Given the description of an element on the screen output the (x, y) to click on. 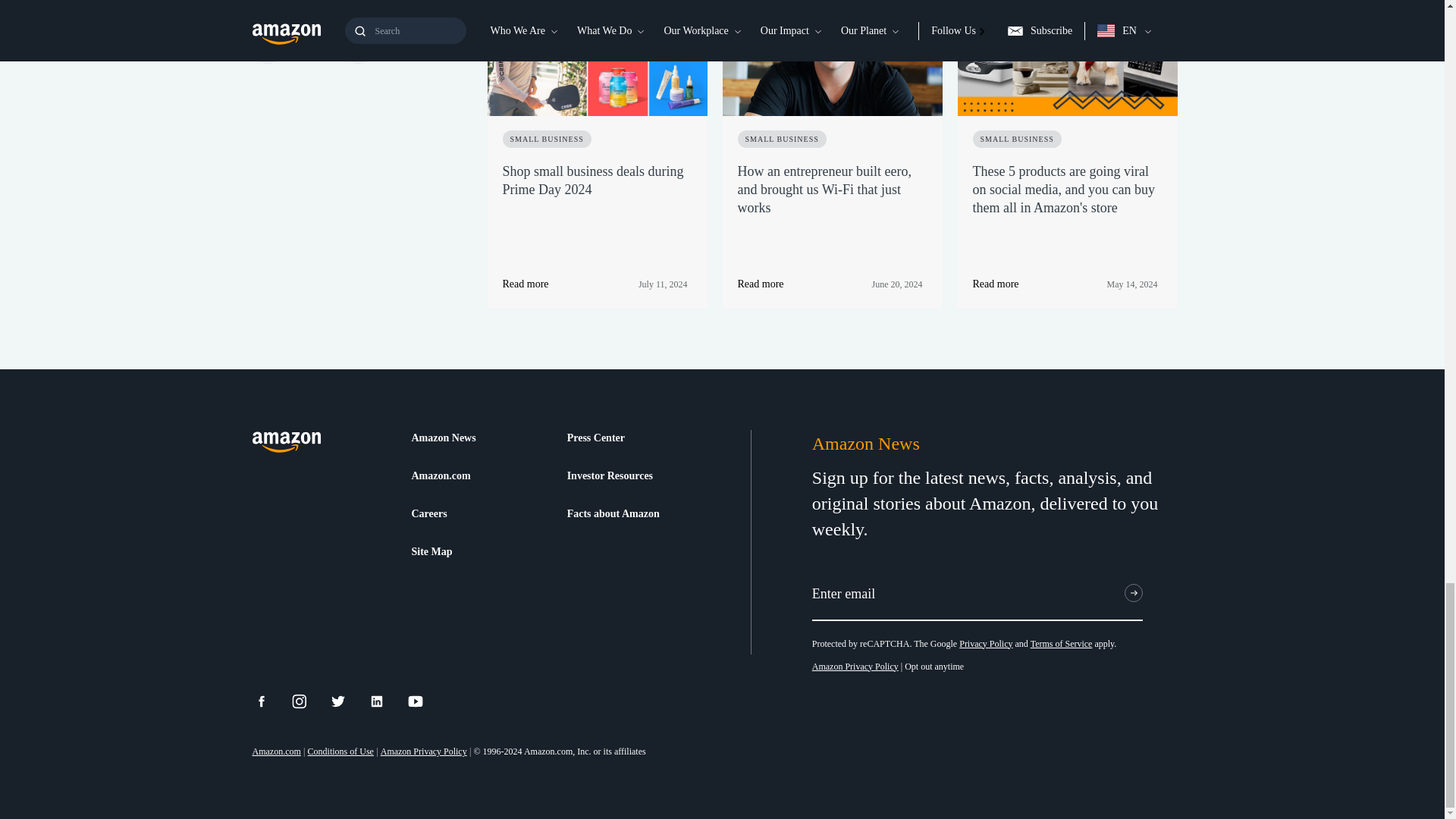
About Amazon Home (285, 442)
Twitter Share (347, 701)
LinkedIn Share (386, 701)
Facebook Share (269, 701)
YouTube (425, 701)
Instagram (308, 701)
